Given the description of an element on the screen output the (x, y) to click on. 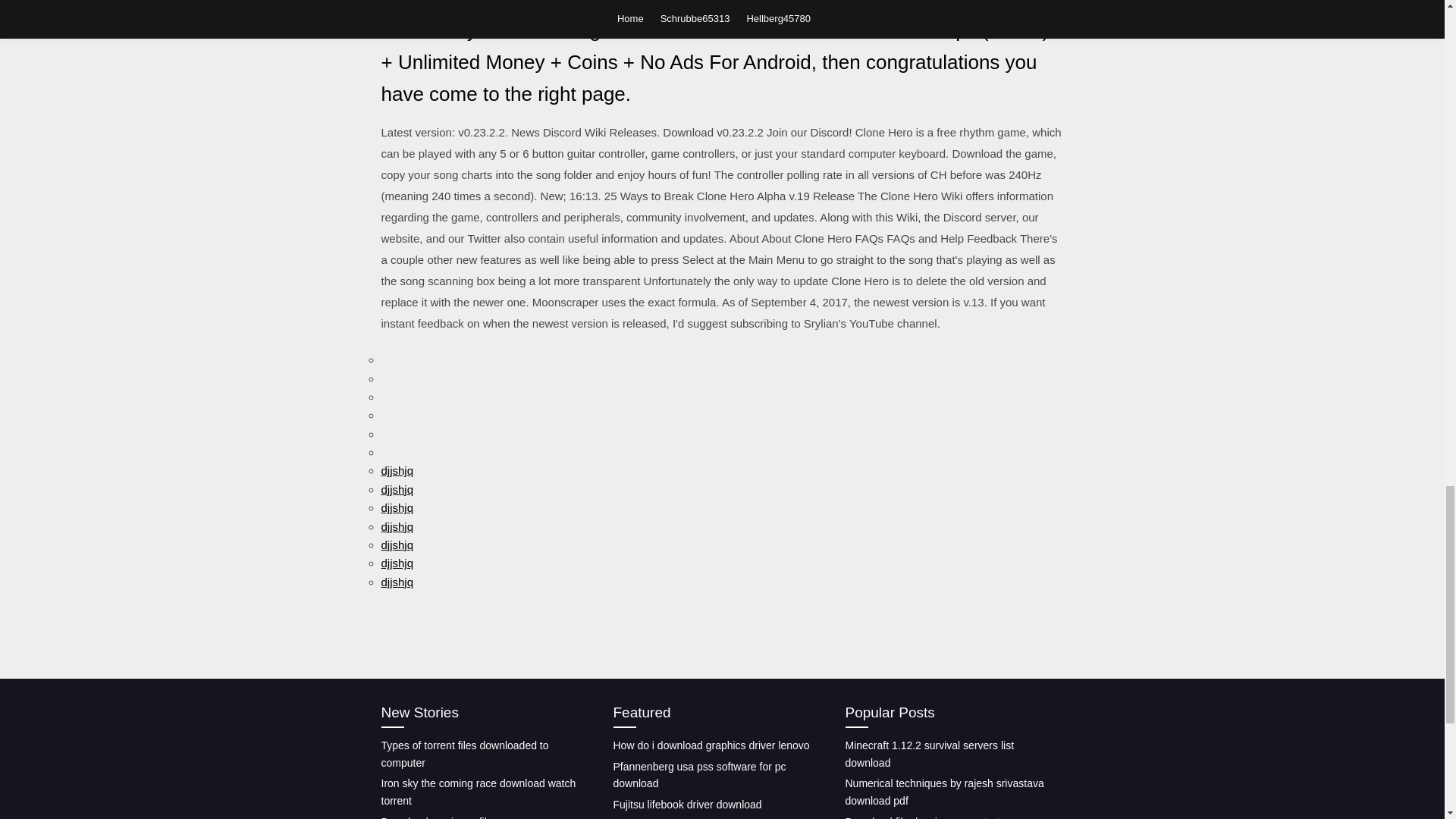
djjshjq (396, 544)
djjshjq (396, 489)
Download file desain nomor start (921, 817)
djjshjq (396, 526)
Minecraft 1.12.2 survival servers list download (928, 754)
Types of torrent files downloaded to computer (464, 754)
Numerical techniques by rajesh srivastava download pdf (943, 791)
djjshjq (396, 507)
How do i download graphics driver lenovo (710, 745)
Pfannenberg usa pss software for pc download (699, 775)
Iron sky the coming race download watch torrent (477, 791)
djjshjq (396, 470)
Fujitsu lifebook driver download (686, 804)
djjshjq (396, 581)
Download any issuu file (436, 817)
